Given the description of an element on the screen output the (x, y) to click on. 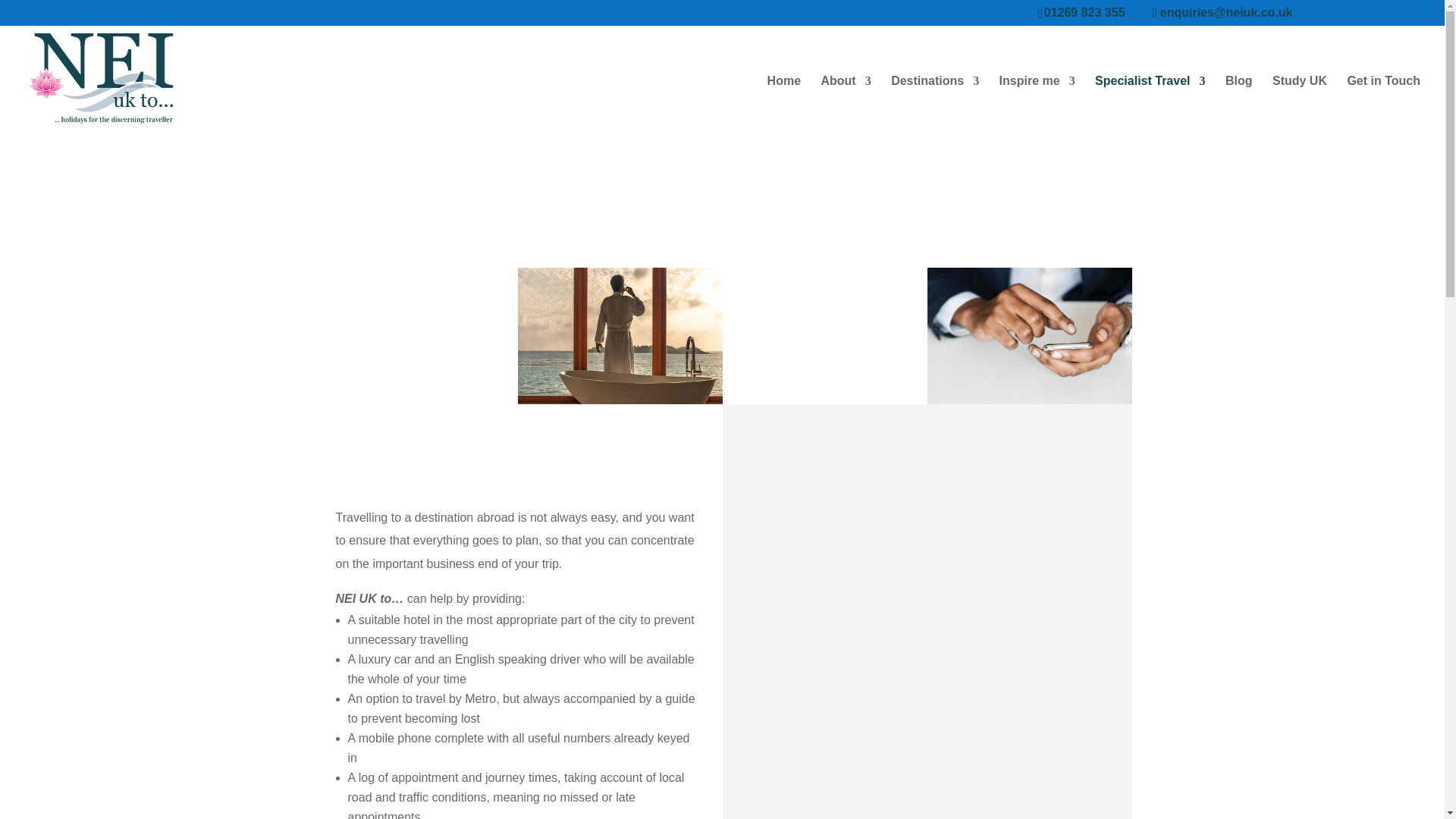
Get in Touch (1383, 104)
Specialist Travel (1149, 104)
Inspire me (1036, 104)
Study UK (1299, 104)
Destinations (934, 104)
